Given the description of an element on the screen output the (x, y) to click on. 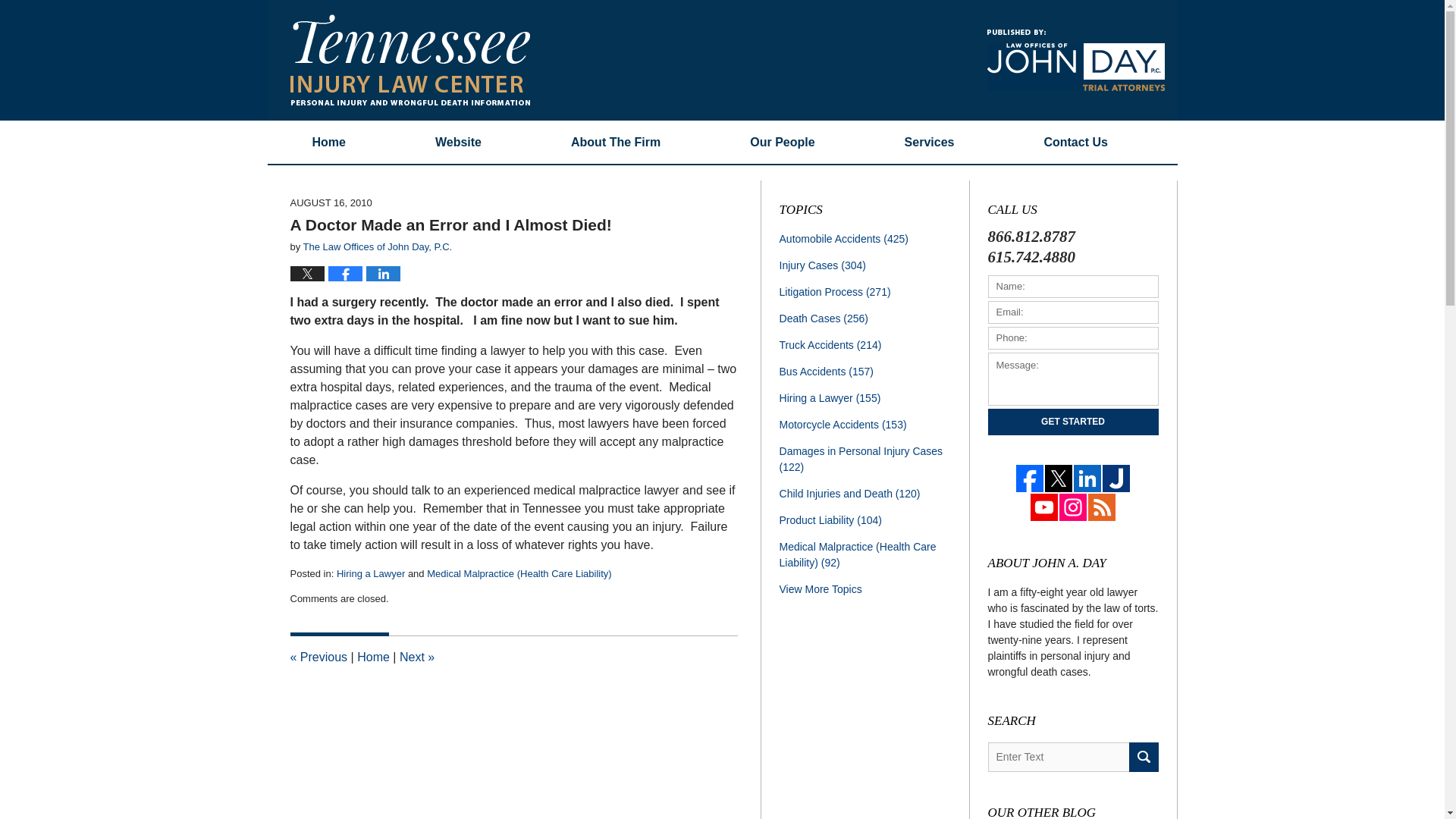
The Law Offices of John Day, P.C. (377, 246)
Contact Us (1074, 141)
Instagram (1072, 506)
Tennessee Injury Law Center (409, 59)
Home (373, 656)
Services (929, 141)
Twitter (1058, 478)
About The Firm (614, 141)
Home (328, 141)
Will My Case Go to Trial? (318, 656)
Feed (1101, 506)
Hiring a Lawyer (370, 573)
Published By The Law Offices of John Day, P.C. (1075, 59)
YouTube (1043, 506)
